Given the description of an element on the screen output the (x, y) to click on. 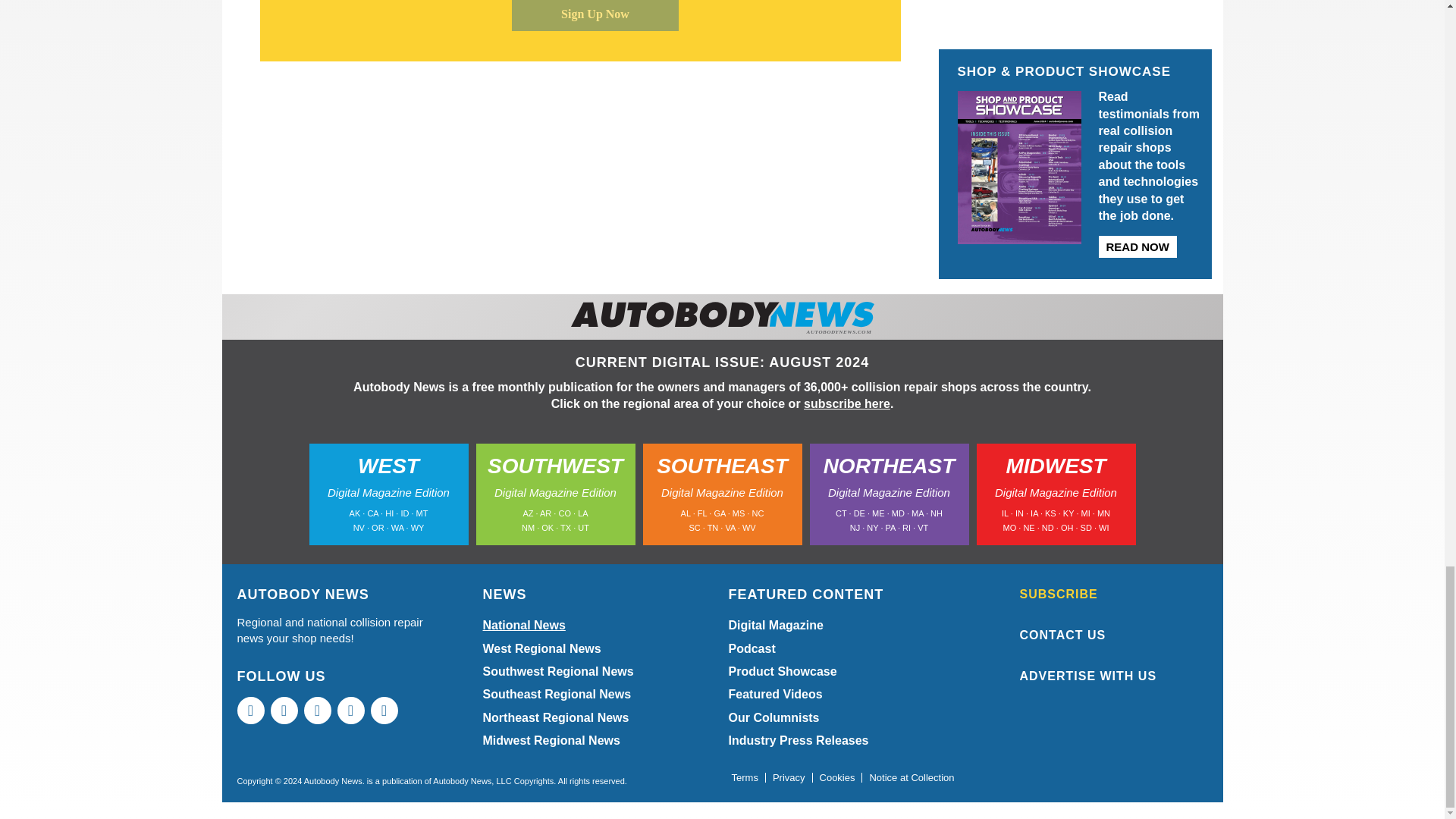
3rd party ad content (1074, 4)
